Given the description of an element on the screen output the (x, y) to click on. 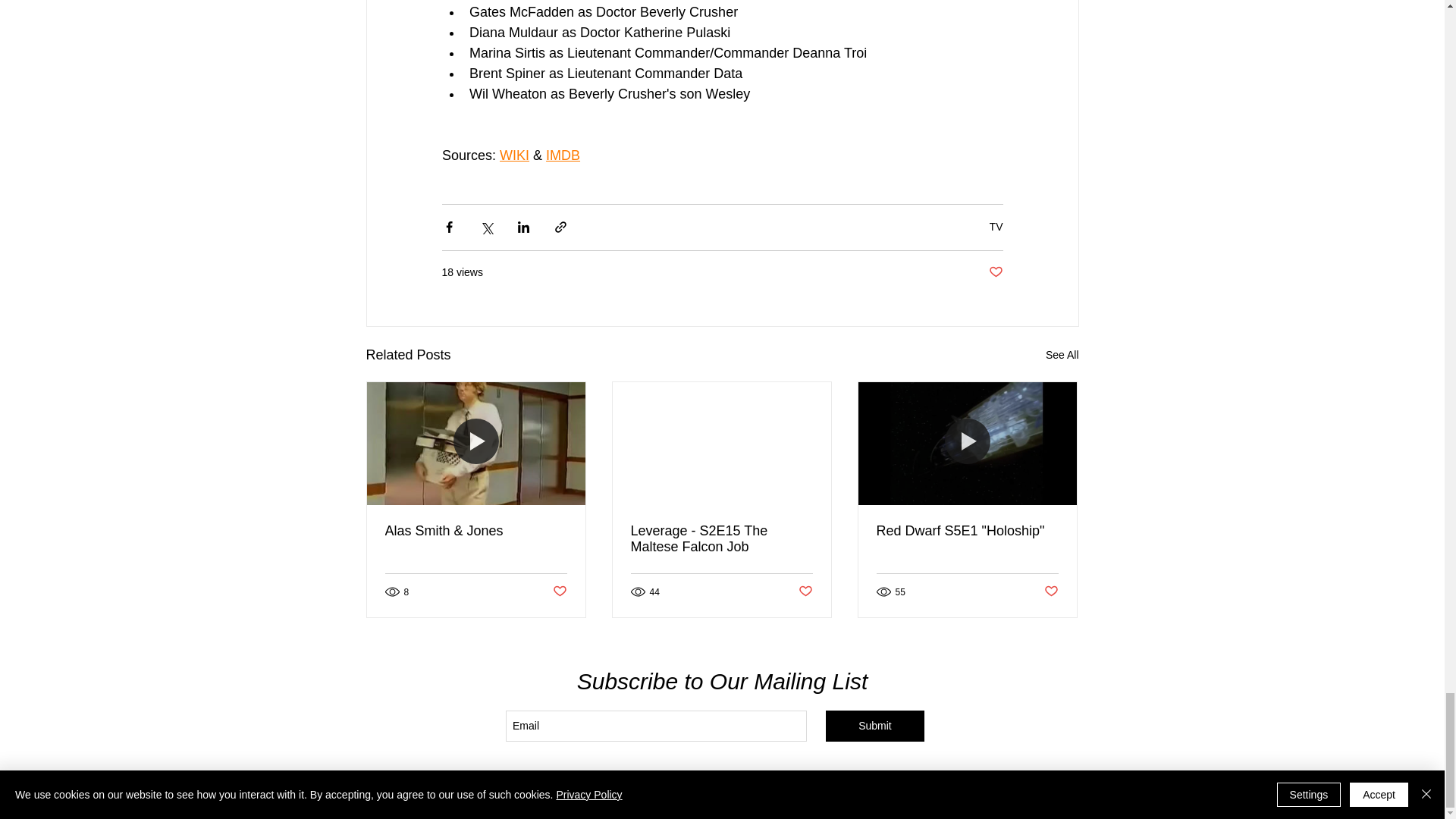
IMDB (562, 155)
Post not marked as liked (804, 591)
Lifts in Film (767, 785)
TV (996, 226)
Red Dwarf S5E1 "Holoship" (967, 530)
Post not marked as liked (1050, 591)
Post not marked as liked (995, 272)
Post not marked as liked (558, 591)
Submit (874, 726)
Leverage - S2E15 The Maltese Falcon Job (721, 539)
